Given the description of an element on the screen output the (x, y) to click on. 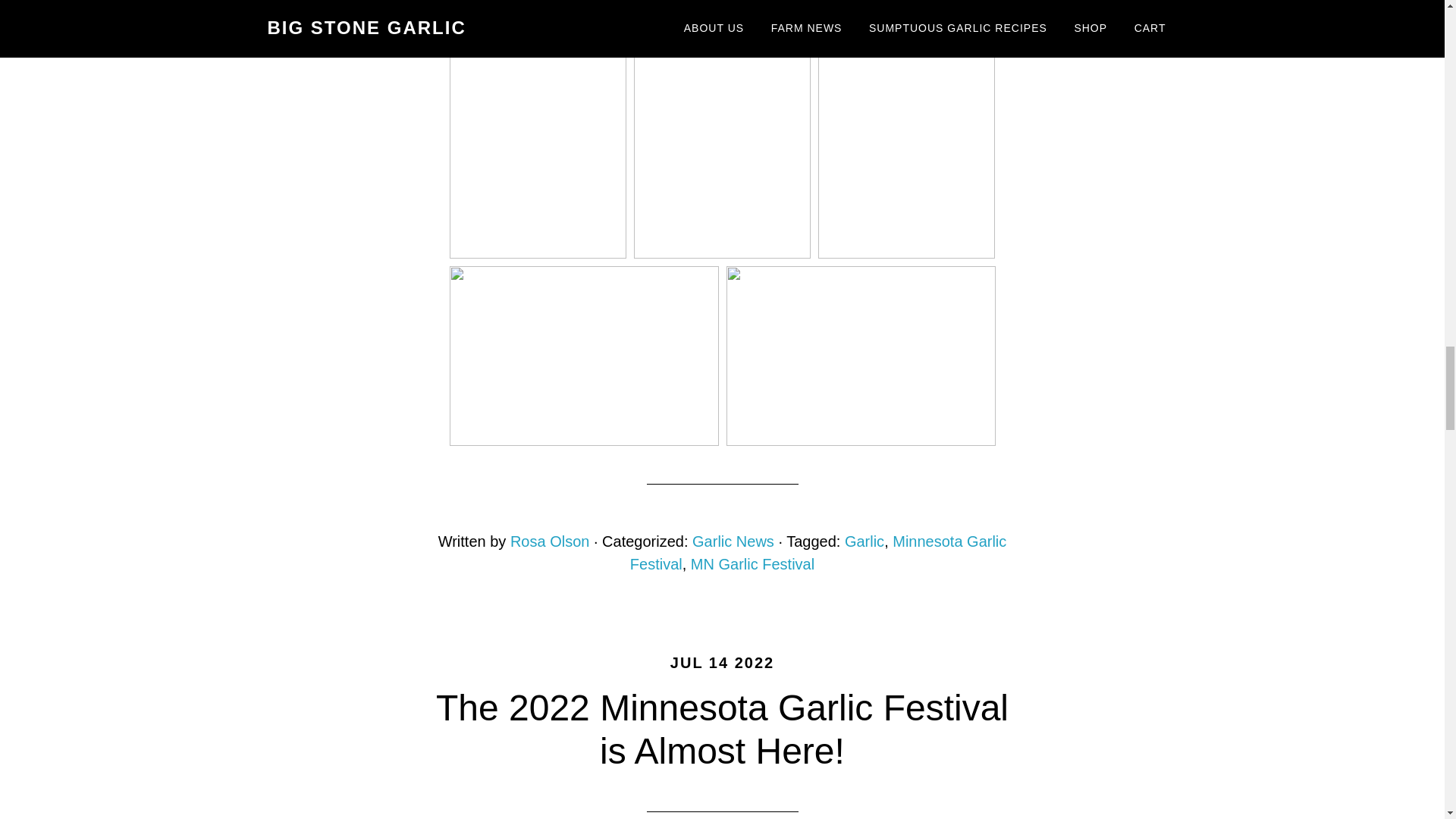
Garlic (863, 541)
Minnesota Garlic Festival (818, 552)
Garlic News (733, 541)
The 2022 Minnesota Garlic Festival is Almost Here! (722, 729)
MN Garlic Festival (751, 564)
Rosa Olson (550, 541)
